Given the description of an element on the screen output the (x, y) to click on. 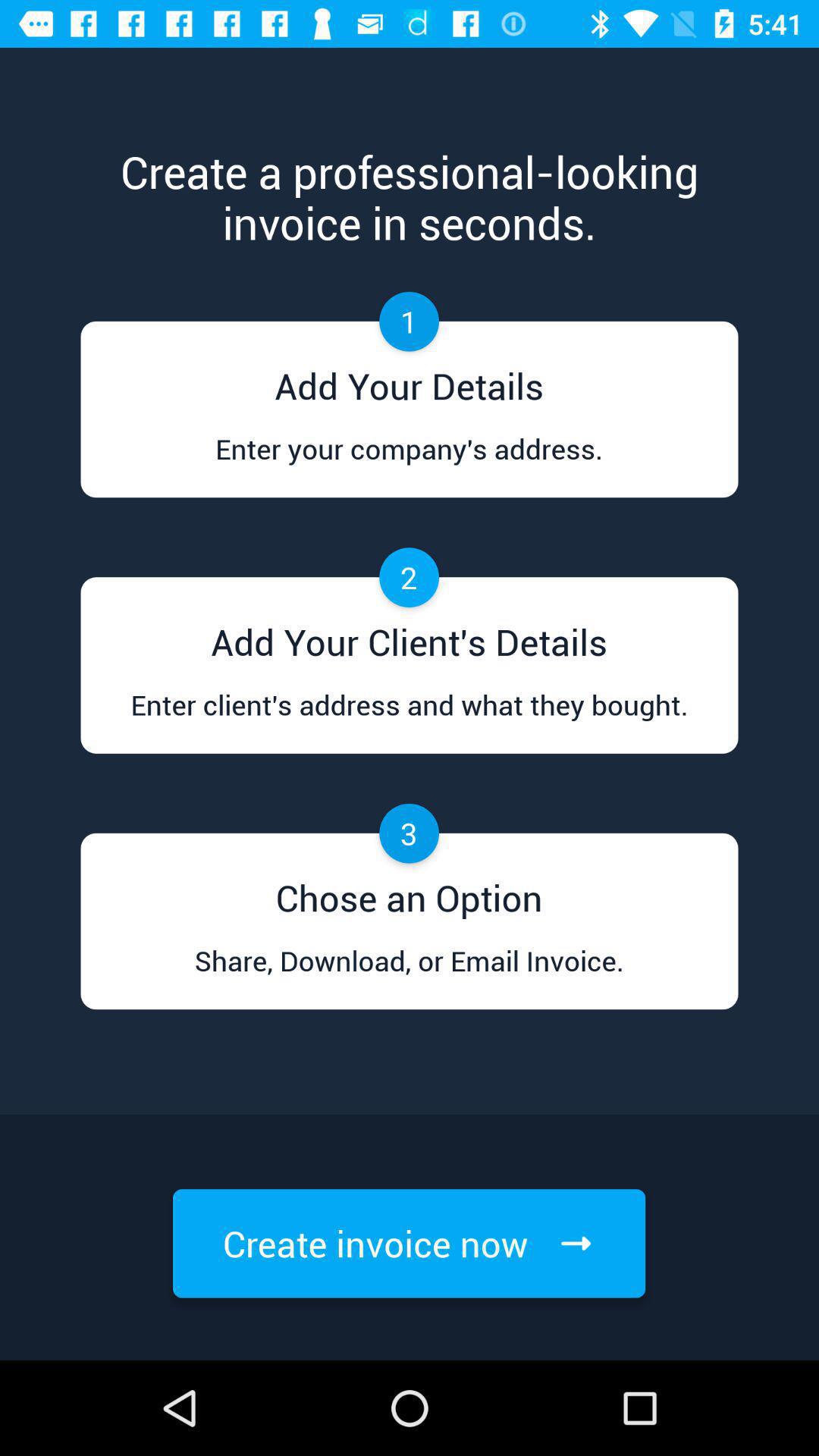
select item above the create invoice now item (408, 975)
